Given the description of an element on the screen output the (x, y) to click on. 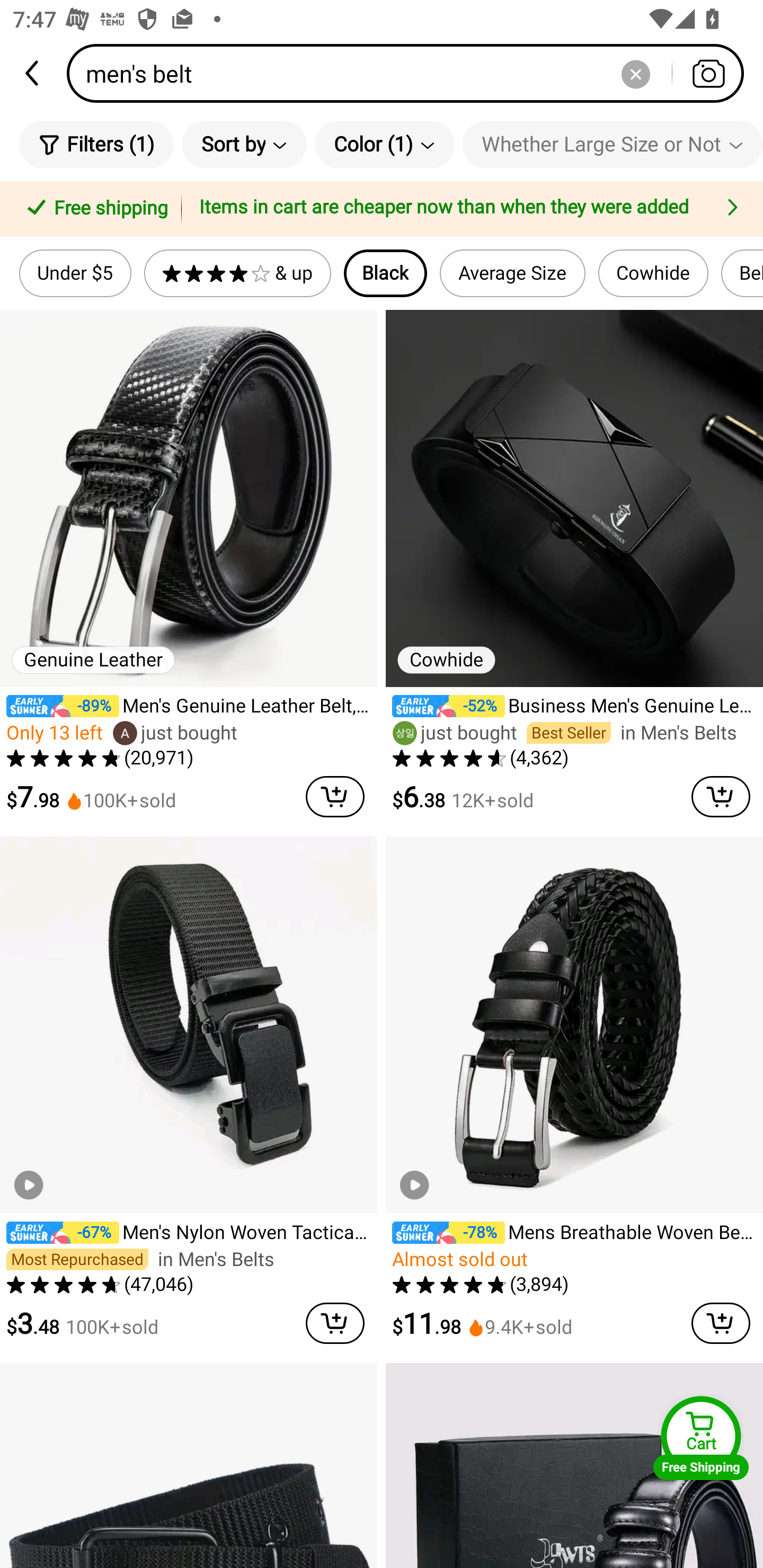
back (33, 72)
men's belt (411, 73)
Delete search history (635, 73)
Search by photo (708, 73)
Filters (1) (96, 143)
Sort by (243, 143)
Color (1) (384, 143)
Whether Large Size or Not (612, 143)
 Free shipping (93, 208)
Under $5 (75, 273)
& up (237, 273)
Black (385, 273)
Average Size (512, 273)
Cowhide (653, 273)
